Given the description of an element on the screen output the (x, y) to click on. 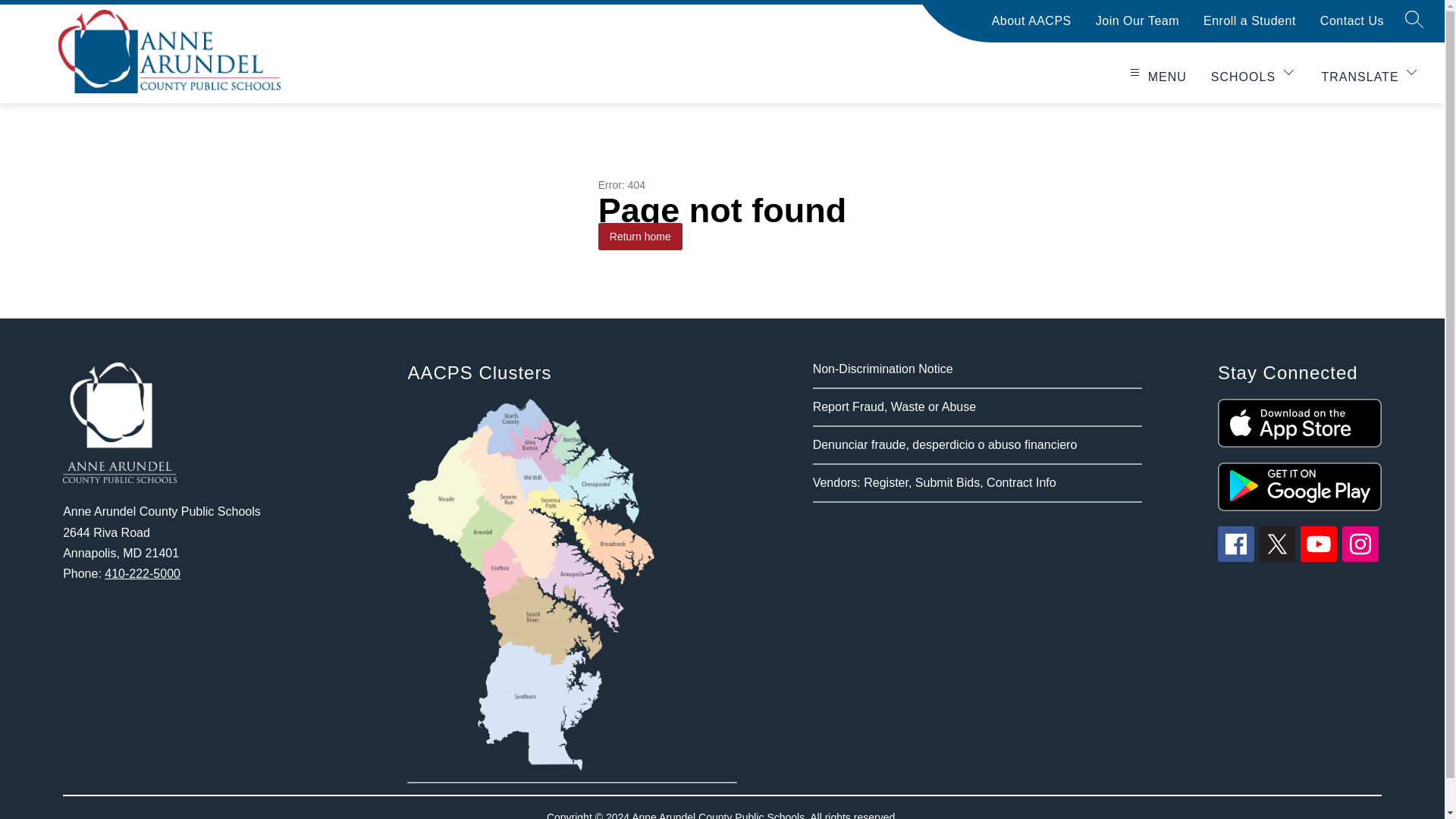
Return home (640, 236)
Vendors: Register, Submit Bids, Contract Info (934, 482)
410-222-5000 (142, 573)
Denunciar fraude, desperdicio o abuso financiero (944, 445)
Contact Us (1352, 27)
Enroll a Student (1249, 27)
Non-Discrimination Notice (882, 368)
About AACPS (1031, 27)
Join Our Team (1137, 27)
MENU (1155, 74)
